Given the description of an element on the screen output the (x, y) to click on. 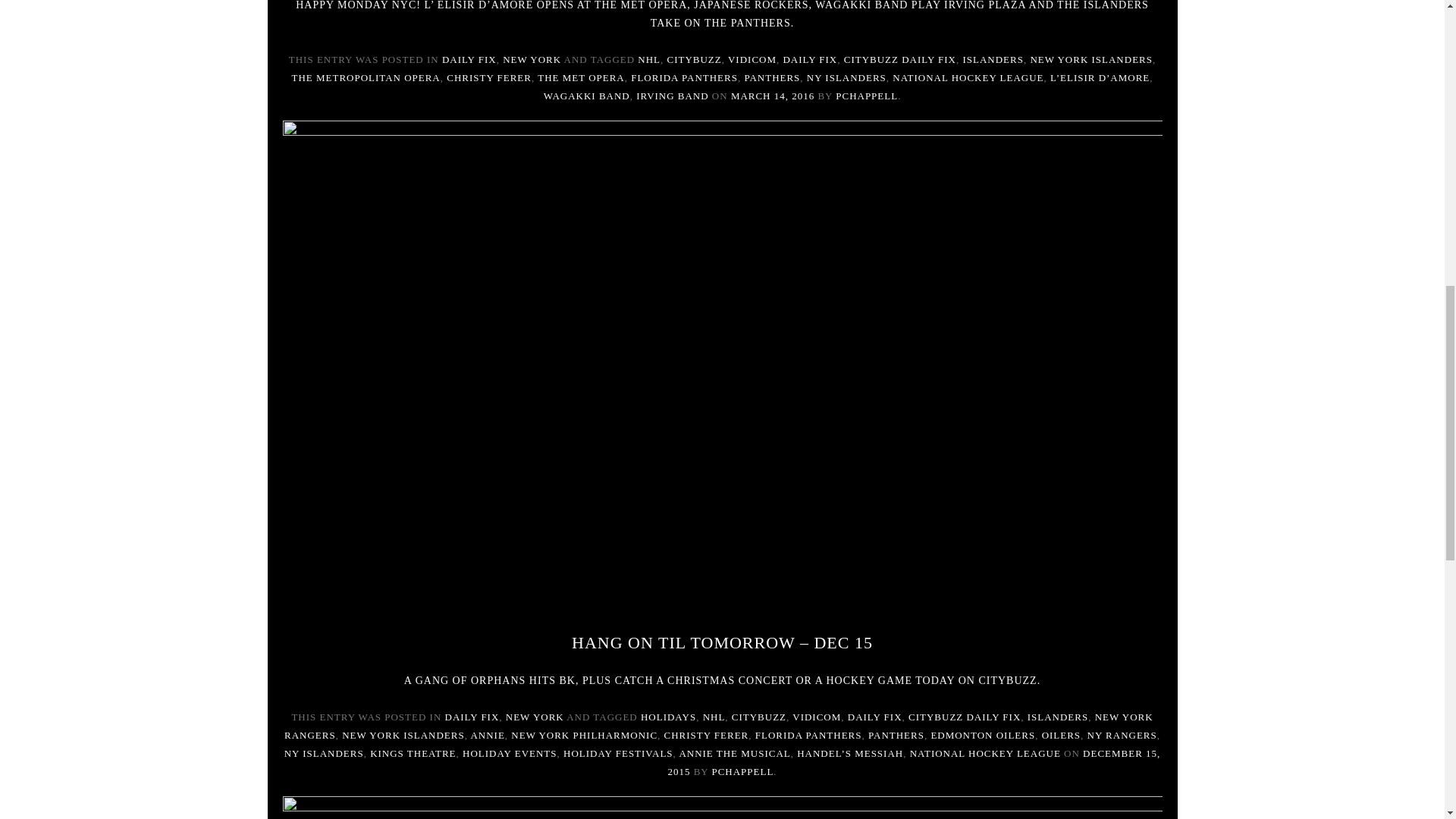
CITYBUZZ (694, 59)
CITYBUZZ DAILY FIX (900, 59)
PCHAPPELL (866, 95)
DAILY FIX (469, 59)
NY ISLANDERS (846, 77)
4:24 am (913, 762)
View all posts by pchappell (866, 95)
NEW YORK ISLANDERS (1091, 59)
PANTHERS (771, 77)
NHL (649, 59)
